Given the description of an element on the screen output the (x, y) to click on. 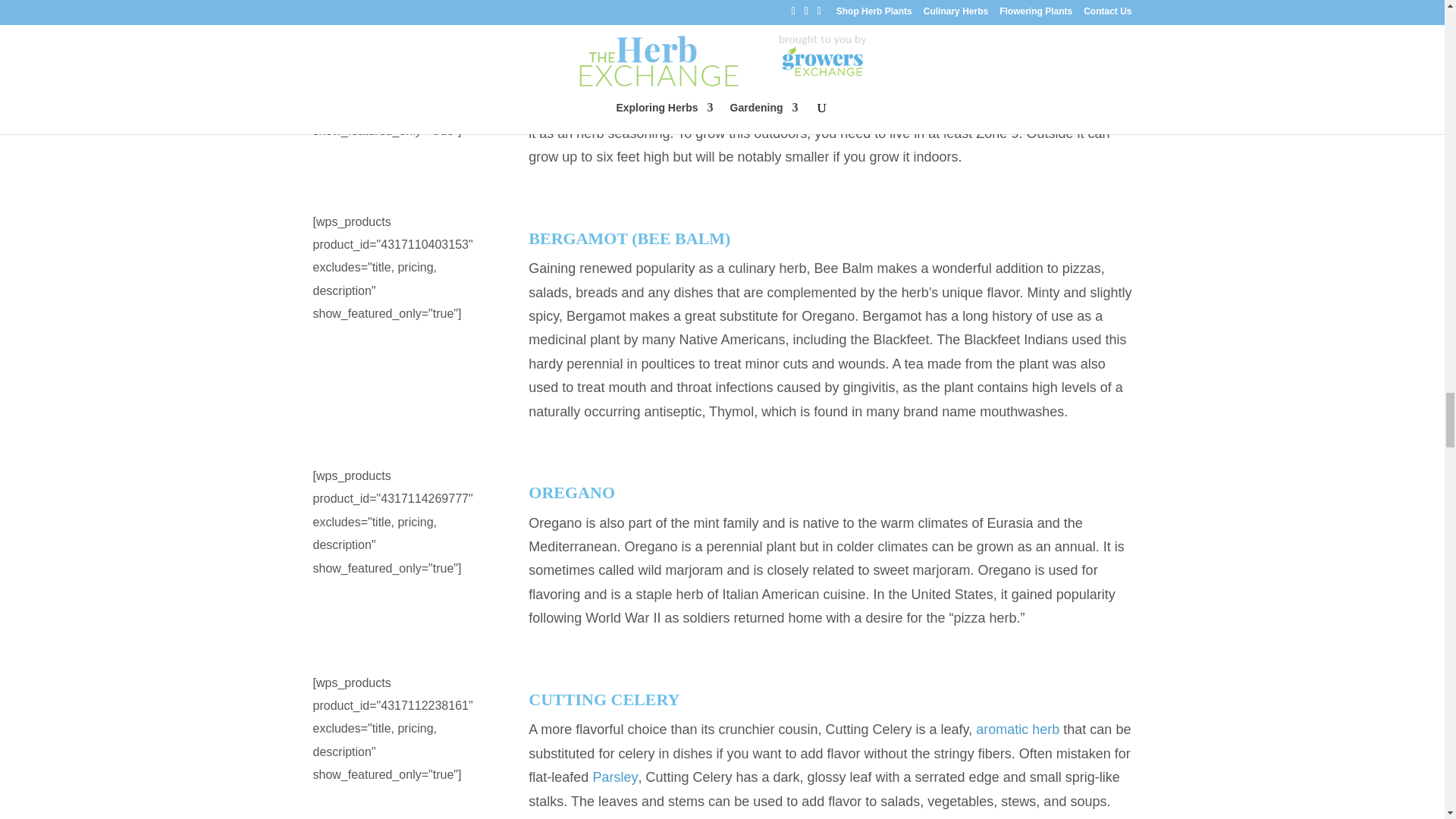
Italian Dark Parsley (614, 776)
aromatic herb (1017, 729)
Aromatic Herbs (1017, 729)
Parsley (614, 776)
